Given the description of an element on the screen output the (x, y) to click on. 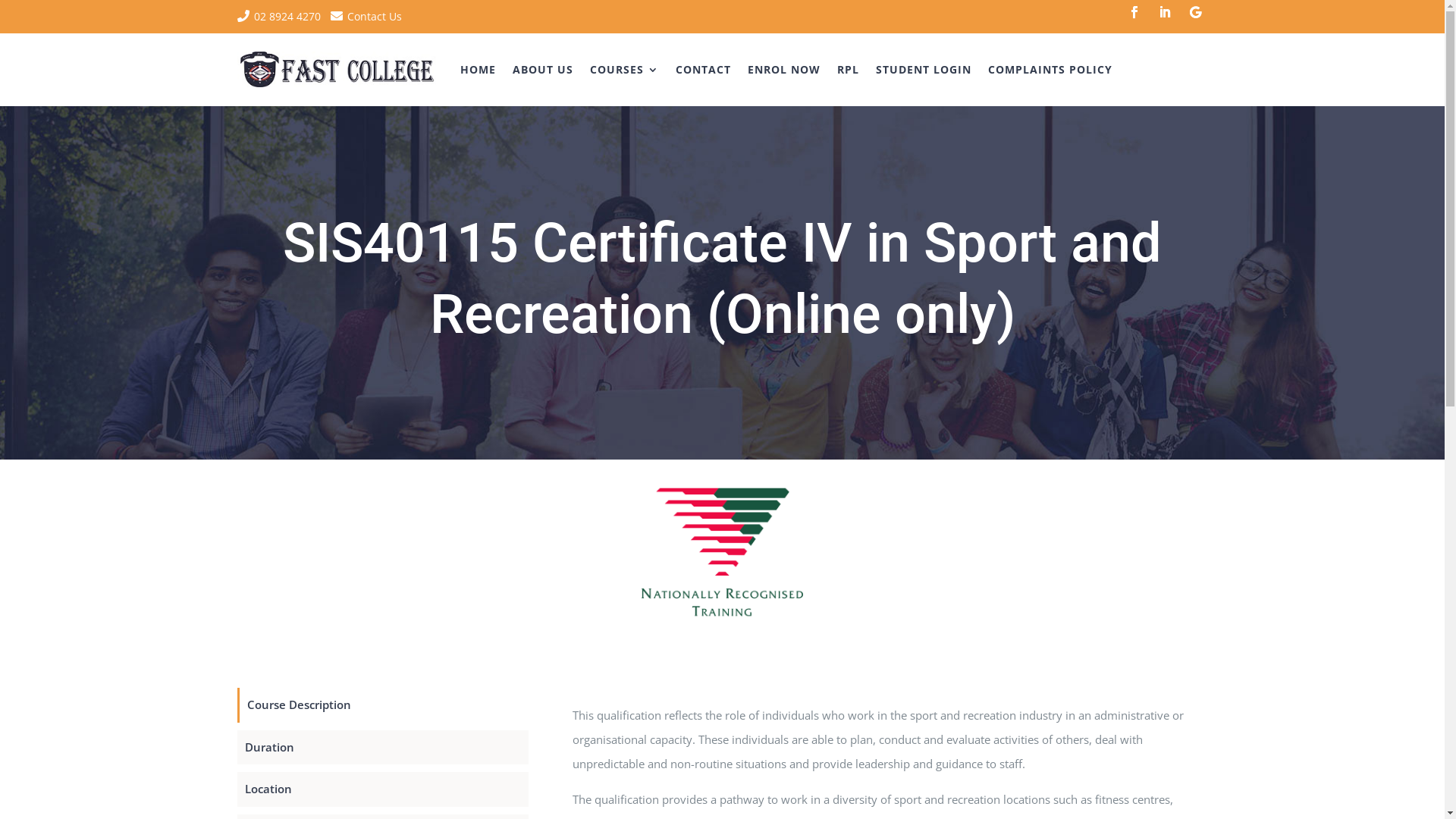
Location Element type: text (381, 788)
CONTACT Element type: text (703, 69)
STUDENT LOGIN Element type: text (923, 69)
Follow on Google Element type: hover (1195, 12)
WechatIMG114 Element type: hover (721, 551)
Follow on LinkedIn Element type: hover (1164, 12)
COURSES Element type: text (623, 69)
RPL Element type: text (848, 69)
ABOUT US Element type: text (542, 69)
COMPLAINTS POLICY Element type: text (1050, 69)
Course Description Element type: text (383, 704)
Follow on Facebook Element type: hover (1134, 12)
Duration Element type: text (381, 747)
ENROL NOW Element type: text (783, 69)
HOME Element type: text (477, 69)
